Given the description of an element on the screen output the (x, y) to click on. 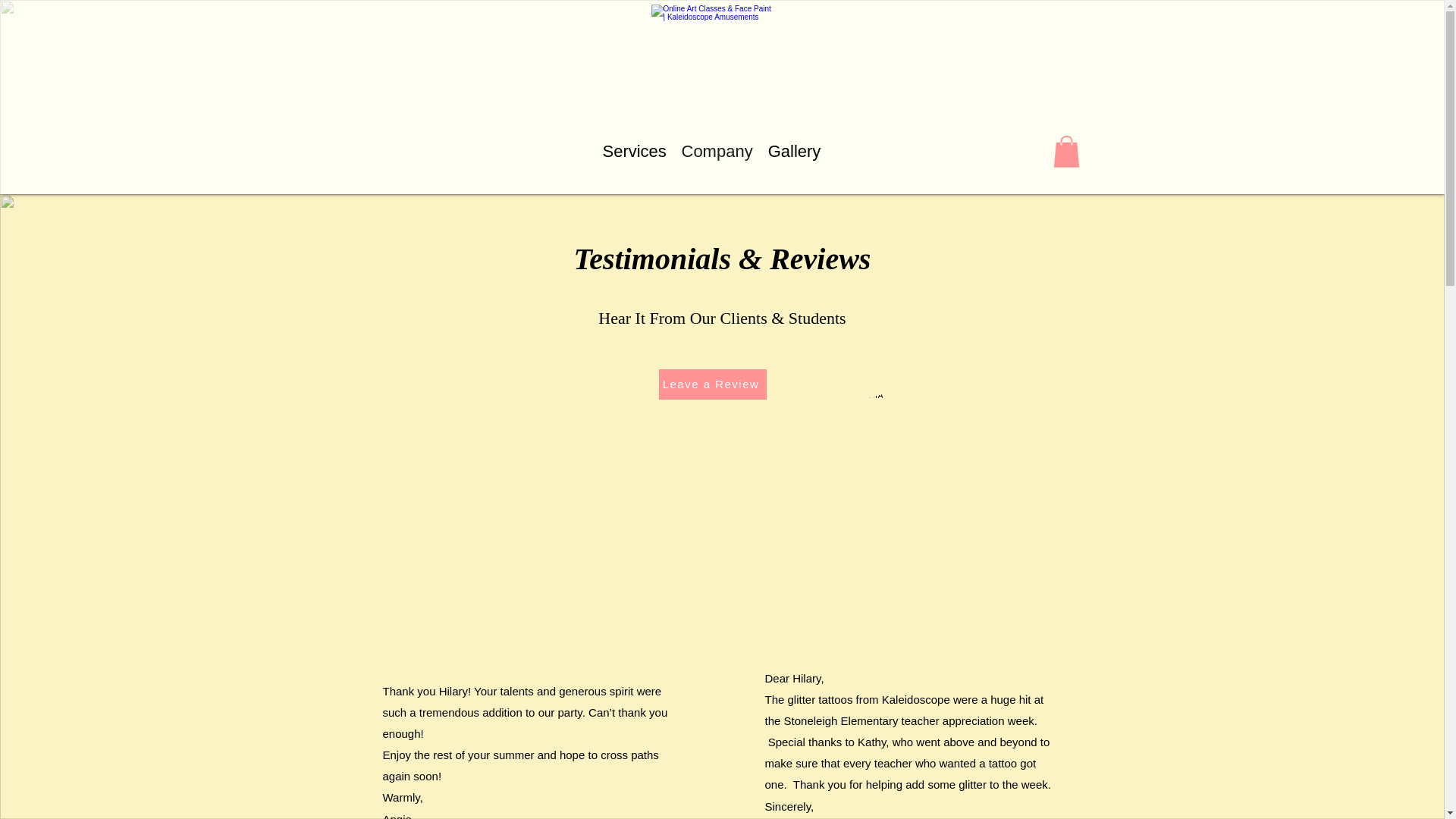
Company (716, 151)
Review from Angie (525, 512)
Services (633, 151)
Testimonial from the PTA (908, 512)
Leave a Review (711, 384)
Gallery (794, 151)
